Given the description of an element on the screen output the (x, y) to click on. 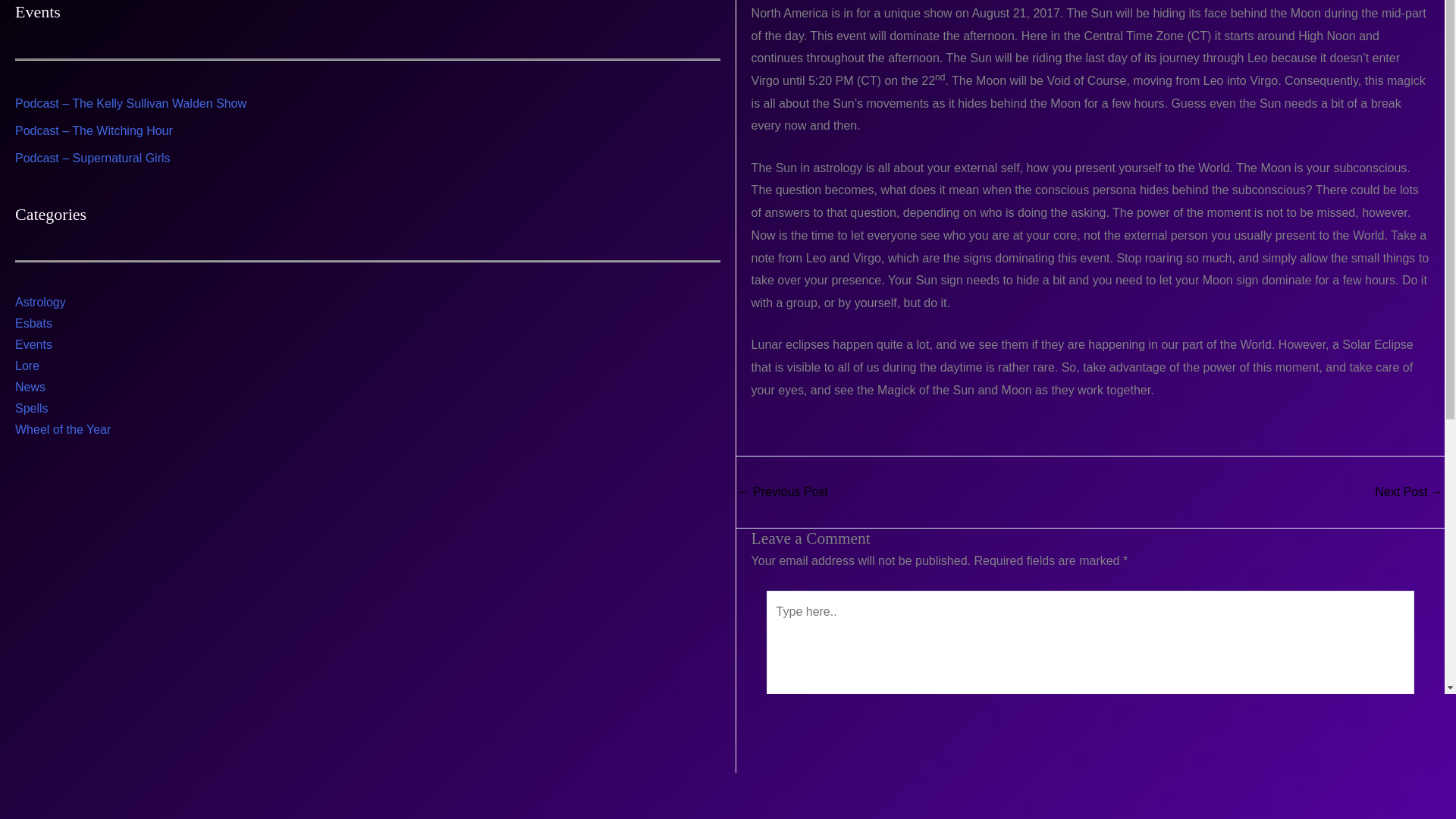
Meteor Drawing Down (1408, 491)
Astrology (39, 301)
Leo (783, 491)
Wheel of the Year (62, 429)
Lore (26, 365)
News (29, 386)
Spells (31, 408)
Esbats (33, 323)
Events (33, 344)
